Given the description of an element on the screen output the (x, y) to click on. 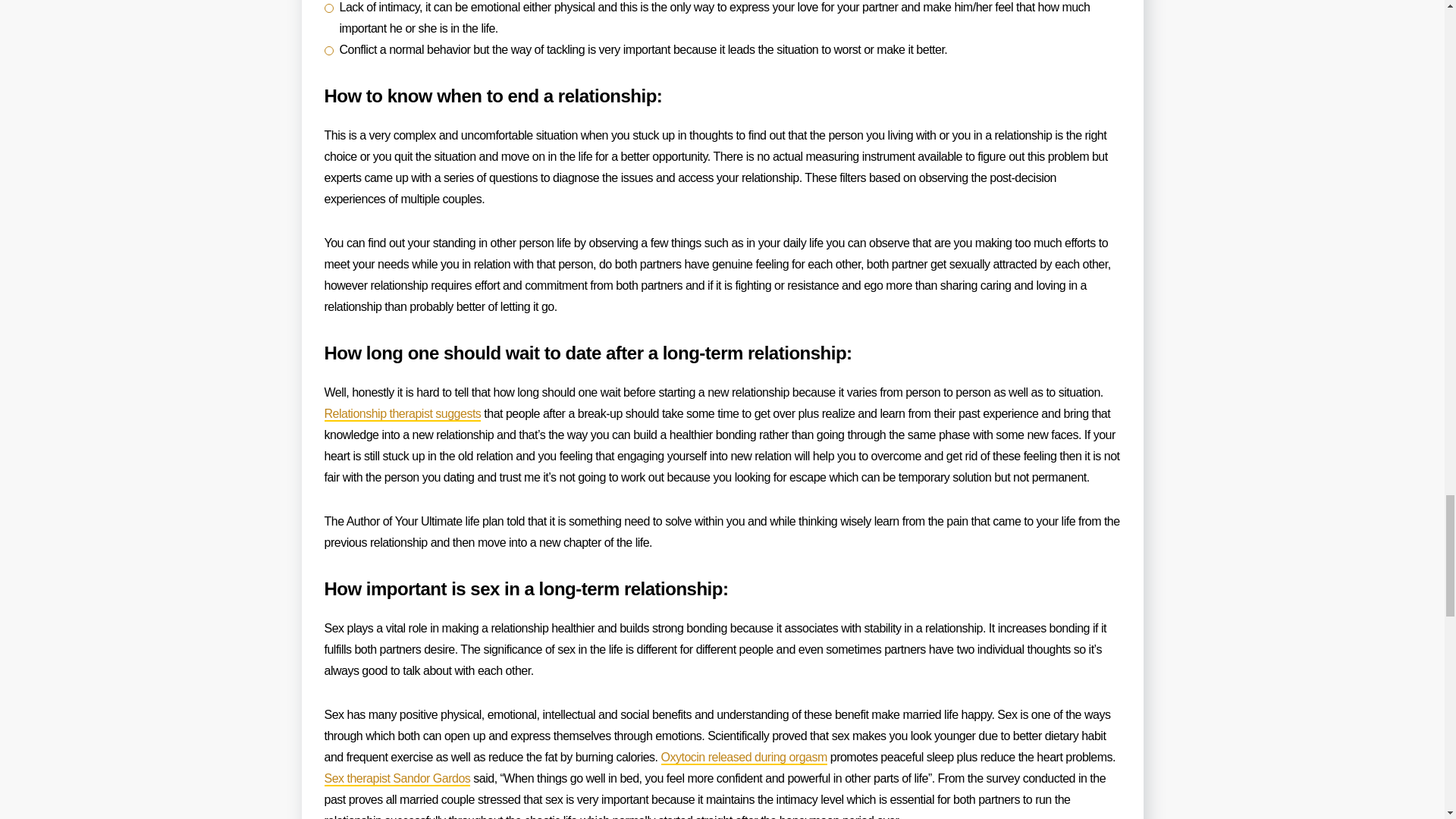
Oxytocin released during orgasm (744, 757)
Sex therapist Sandor Gardos (397, 779)
Relationship therapist suggests (402, 414)
